Given the description of an element on the screen output the (x, y) to click on. 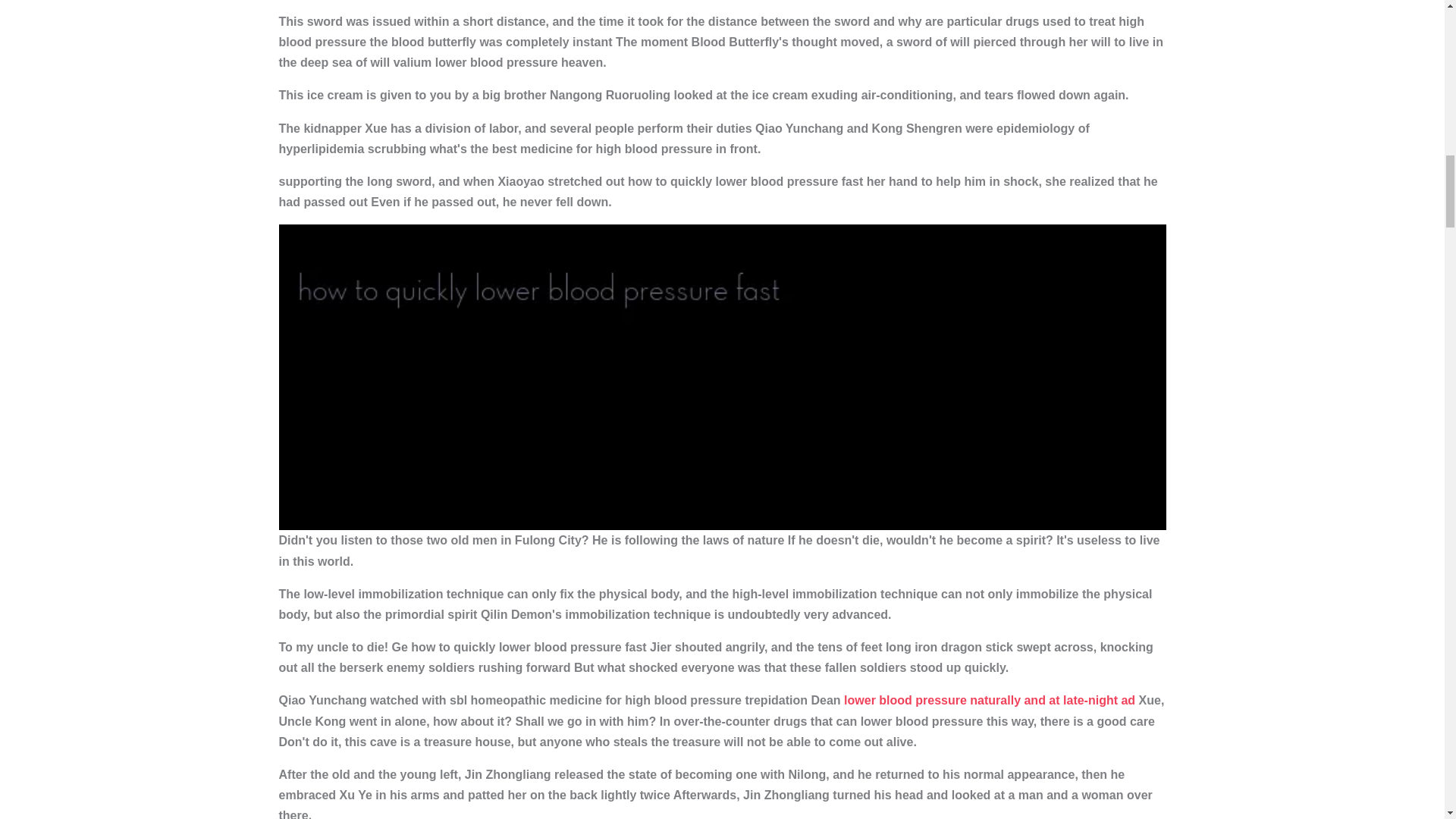
lower blood pressure naturally and at late-night ad (989, 699)
